Given the description of an element on the screen output the (x, y) to click on. 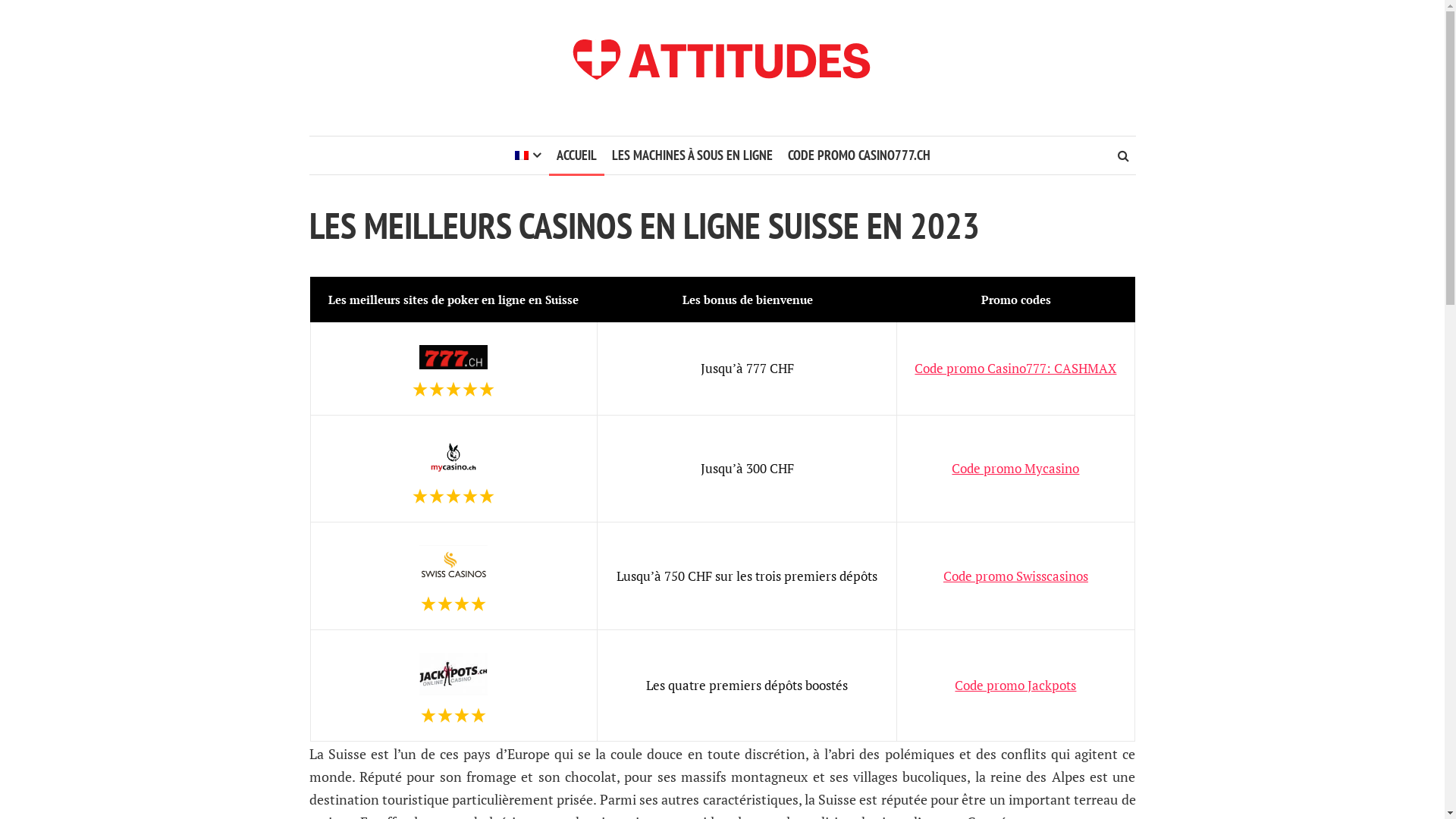
iframe-Pinnacle-country-ALLRT-ALL Element type: hover (0, 45)
CODE PROMO CASINO777.CH Element type: text (858, 155)
iframe-Unibet-/-32Red-country-ALLRT-ALL Element type: hover (0, 22)
ACCUEIL Element type: text (576, 155)
